Given the description of an element on the screen output the (x, y) to click on. 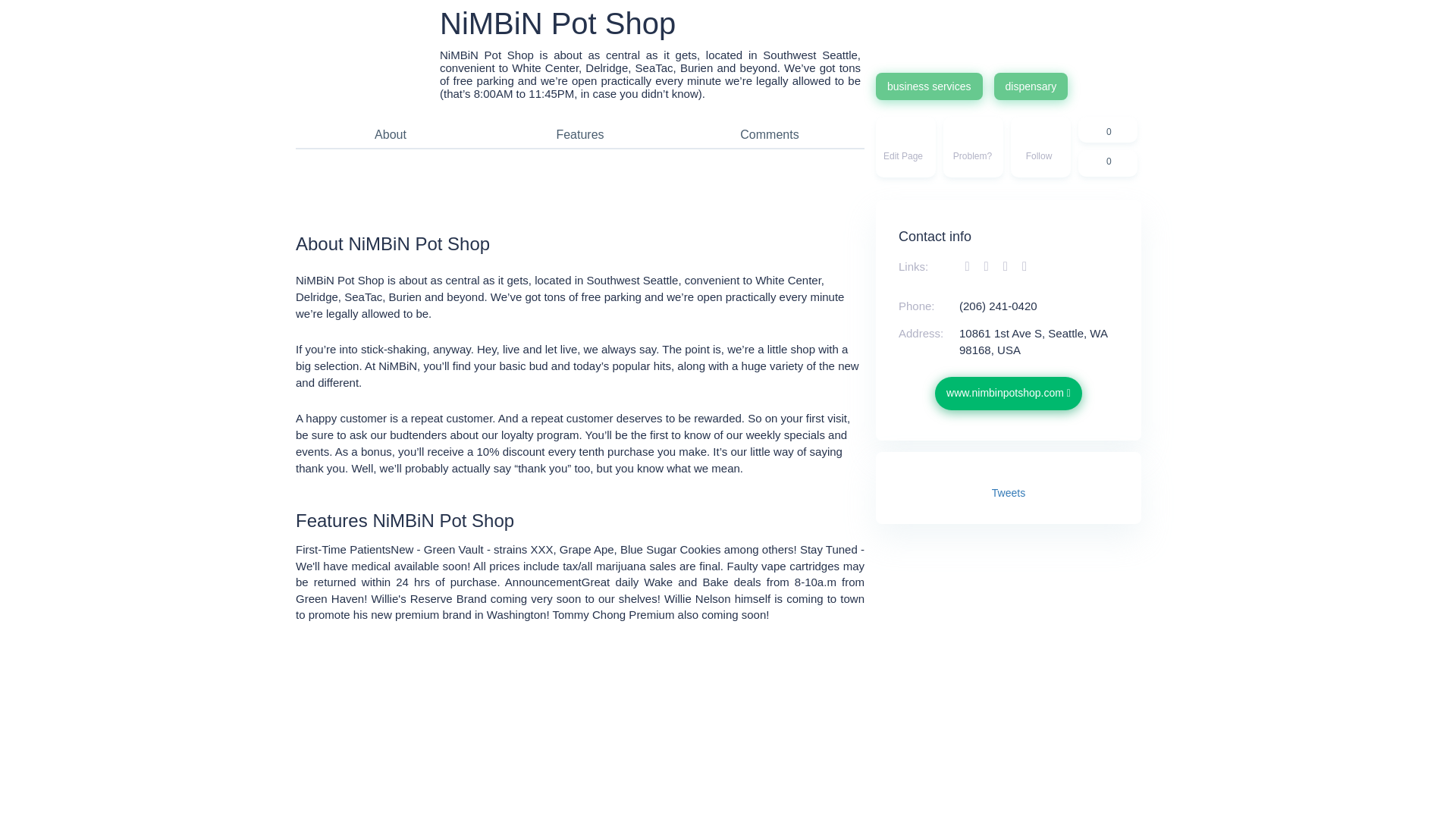
Features (579, 134)
About (390, 134)
Problem? (973, 147)
NiMBiN Pot Shop facebook (968, 266)
About (390, 134)
NiMBiN Pot Shop email (1024, 266)
Tweets (1008, 492)
NiMBiN Pot Shop instagram (1006, 266)
